Given the description of an element on the screen output the (x, y) to click on. 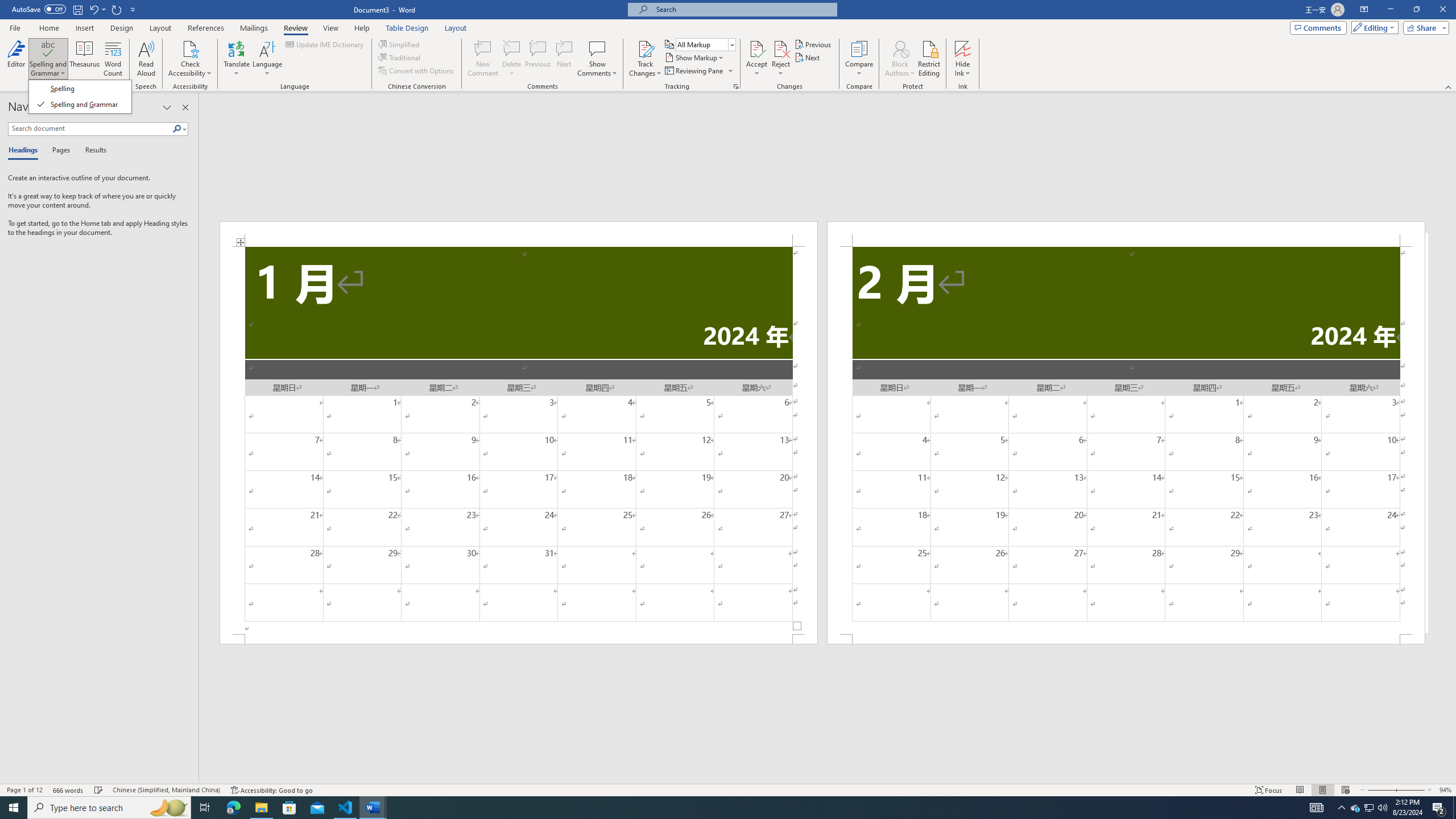
Change Tracking Options... (735, 85)
Spelling and Grammar (48, 58)
Traditional (400, 56)
Hide Ink (962, 58)
